Given the description of an element on the screen output the (x, y) to click on. 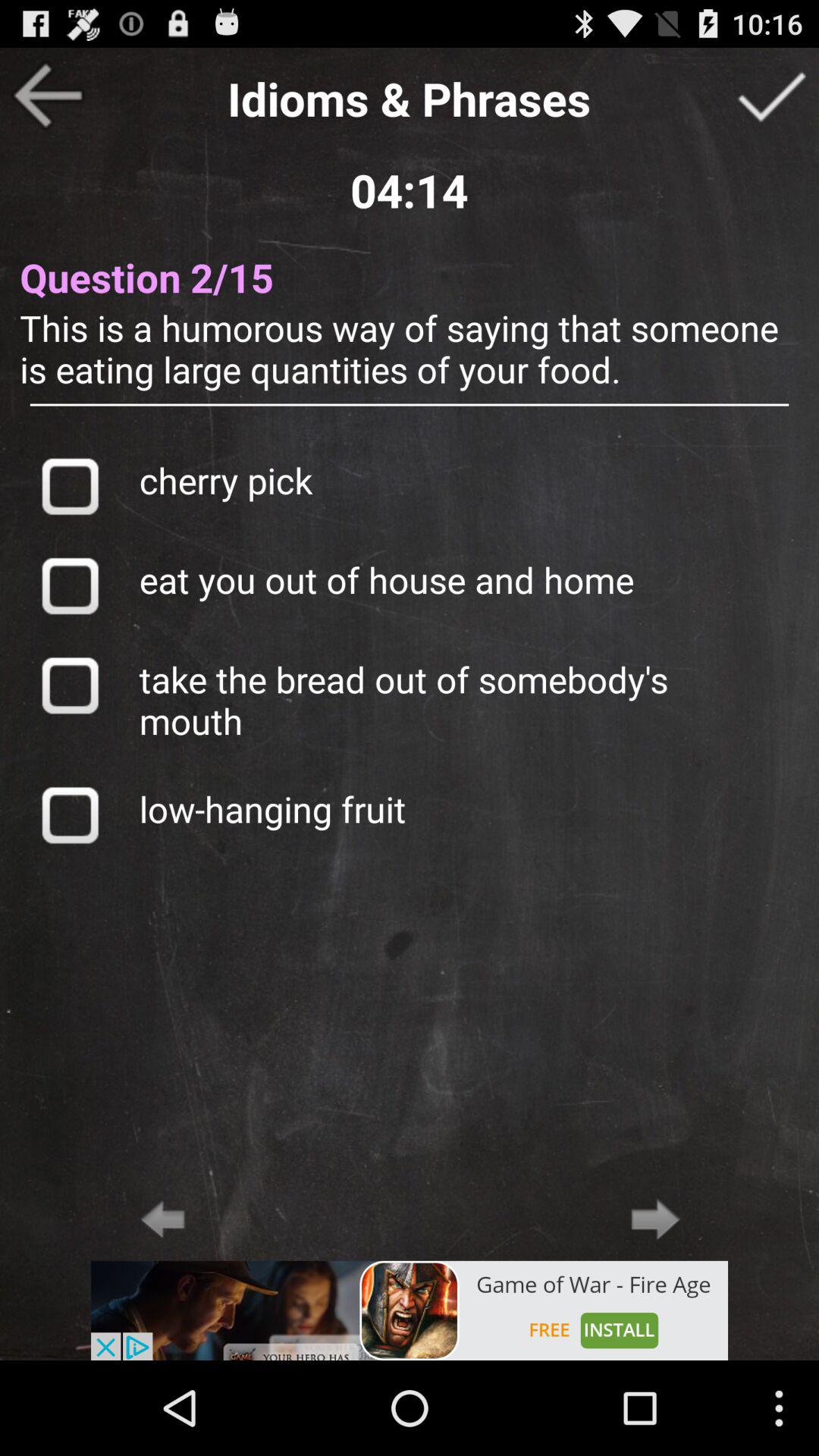
select answer (69, 485)
